Given the description of an element on the screen output the (x, y) to click on. 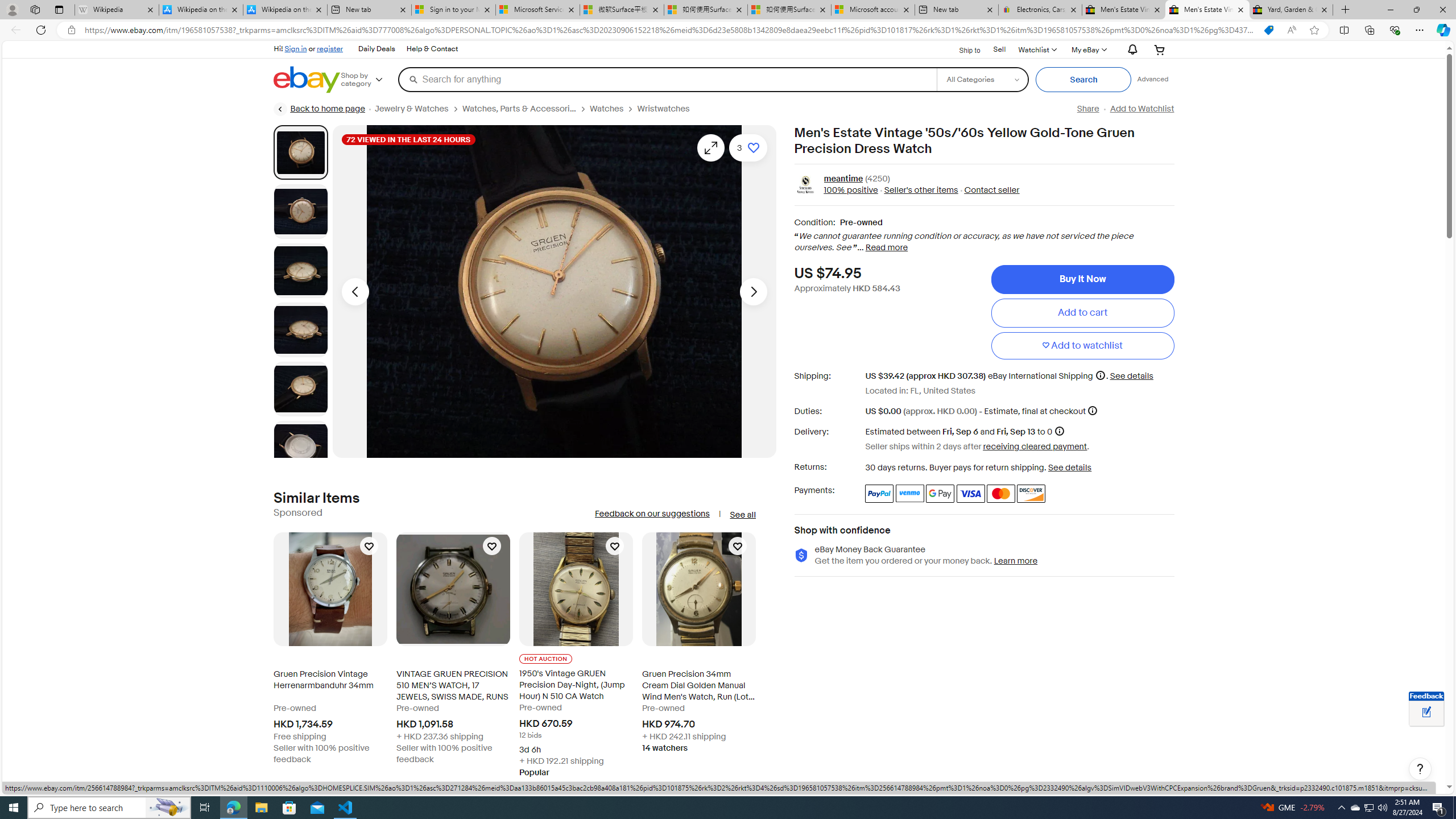
Daily Deals (376, 49)
Venmo (909, 493)
eBay Home (306, 79)
  Seller's other items (917, 190)
meantime (843, 179)
Picture 6 of 8 (300, 448)
Microsoft account | Account Checkup (873, 9)
See details for shipping (1131, 375)
Picture 2 of 8 (300, 211)
Add to cart (1082, 312)
Help & Contact (432, 49)
